Given the description of an element on the screen output the (x, y) to click on. 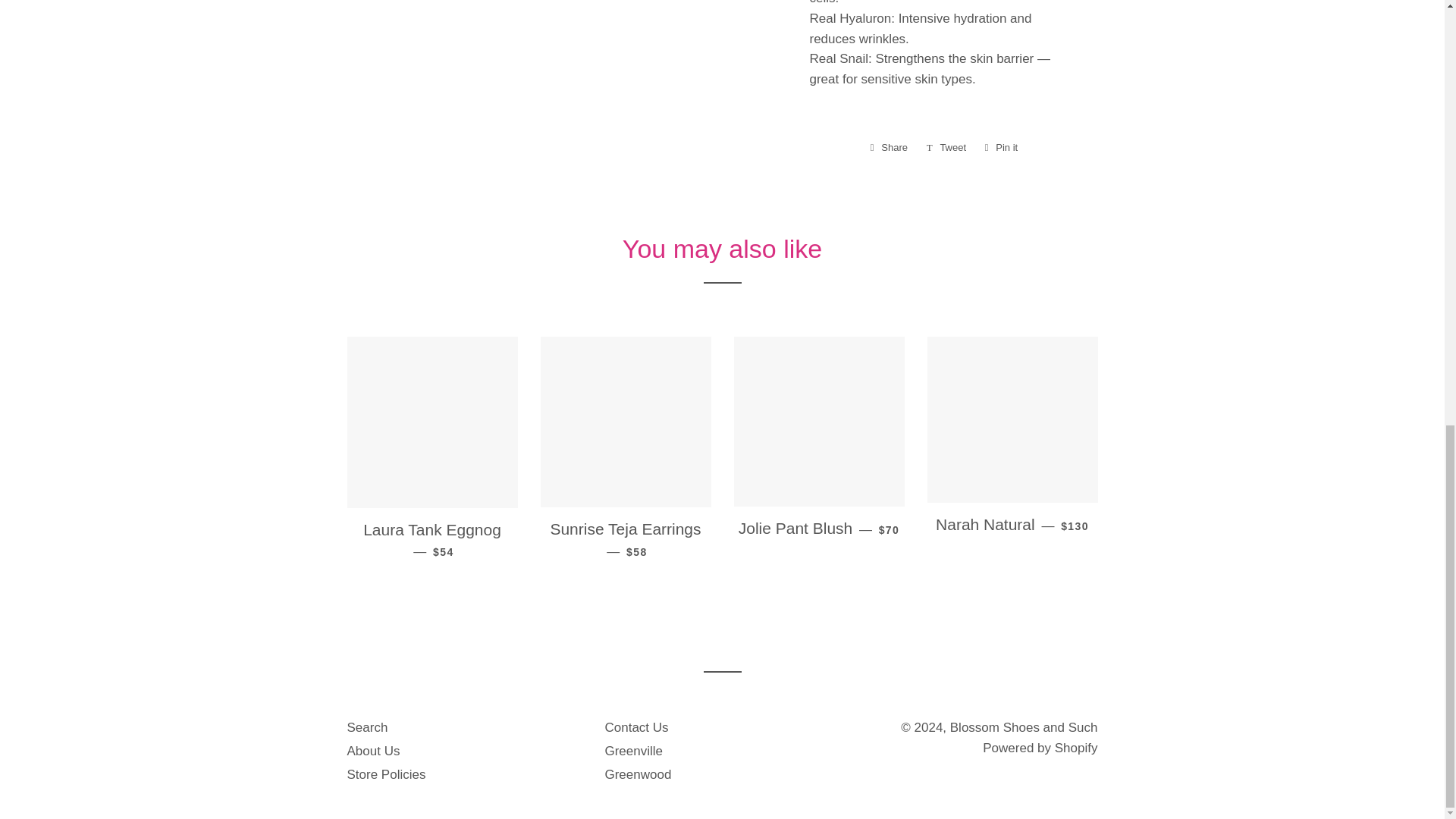
Tweet on Twitter (946, 147)
Share on Facebook (889, 147)
Pin on Pinterest (1000, 147)
